Given the description of an element on the screen output the (x, y) to click on. 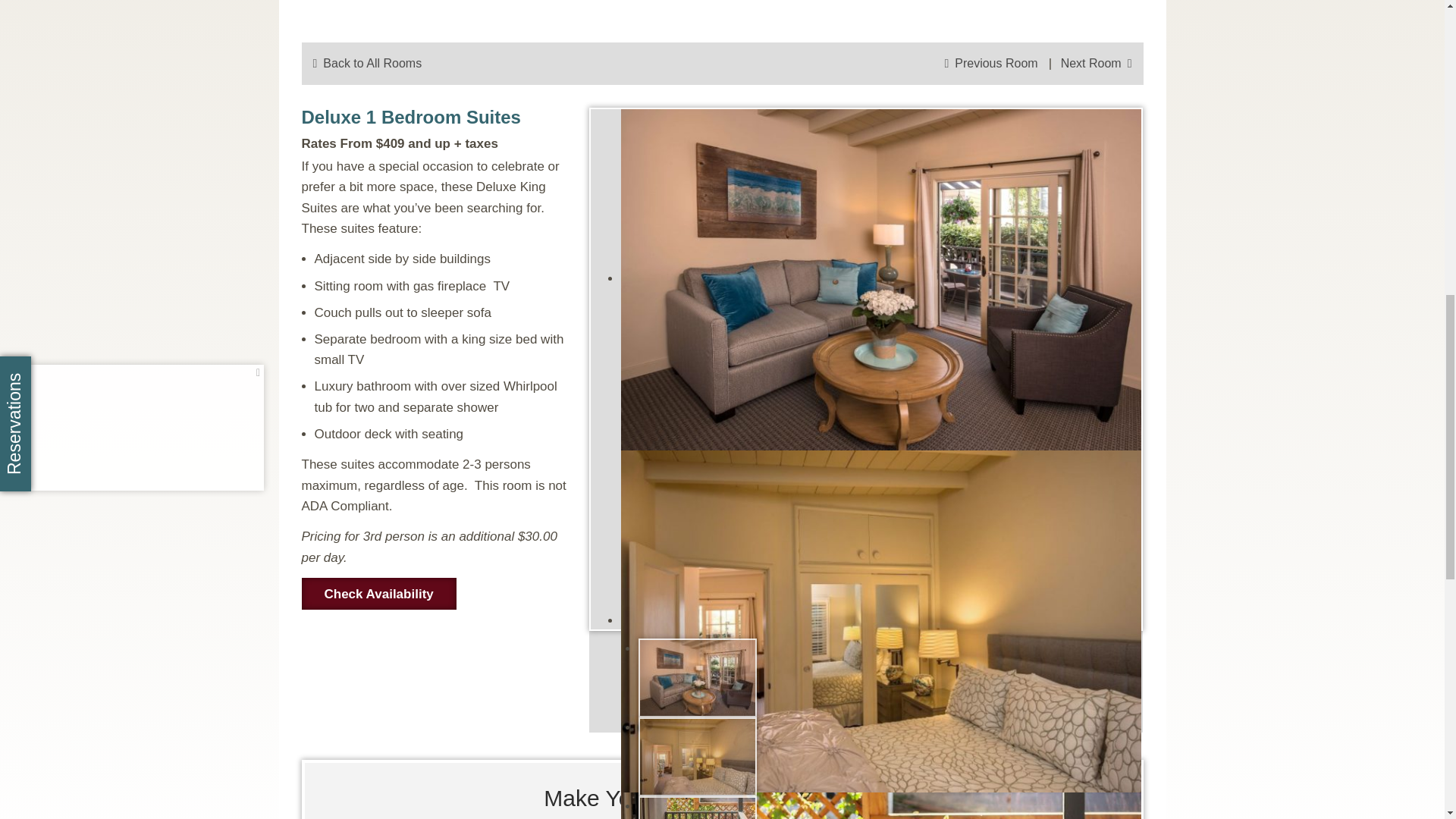
Suite with 2 Beds (990, 63)
Luxury King Studios (1095, 63)
